Given the description of an element on the screen output the (x, y) to click on. 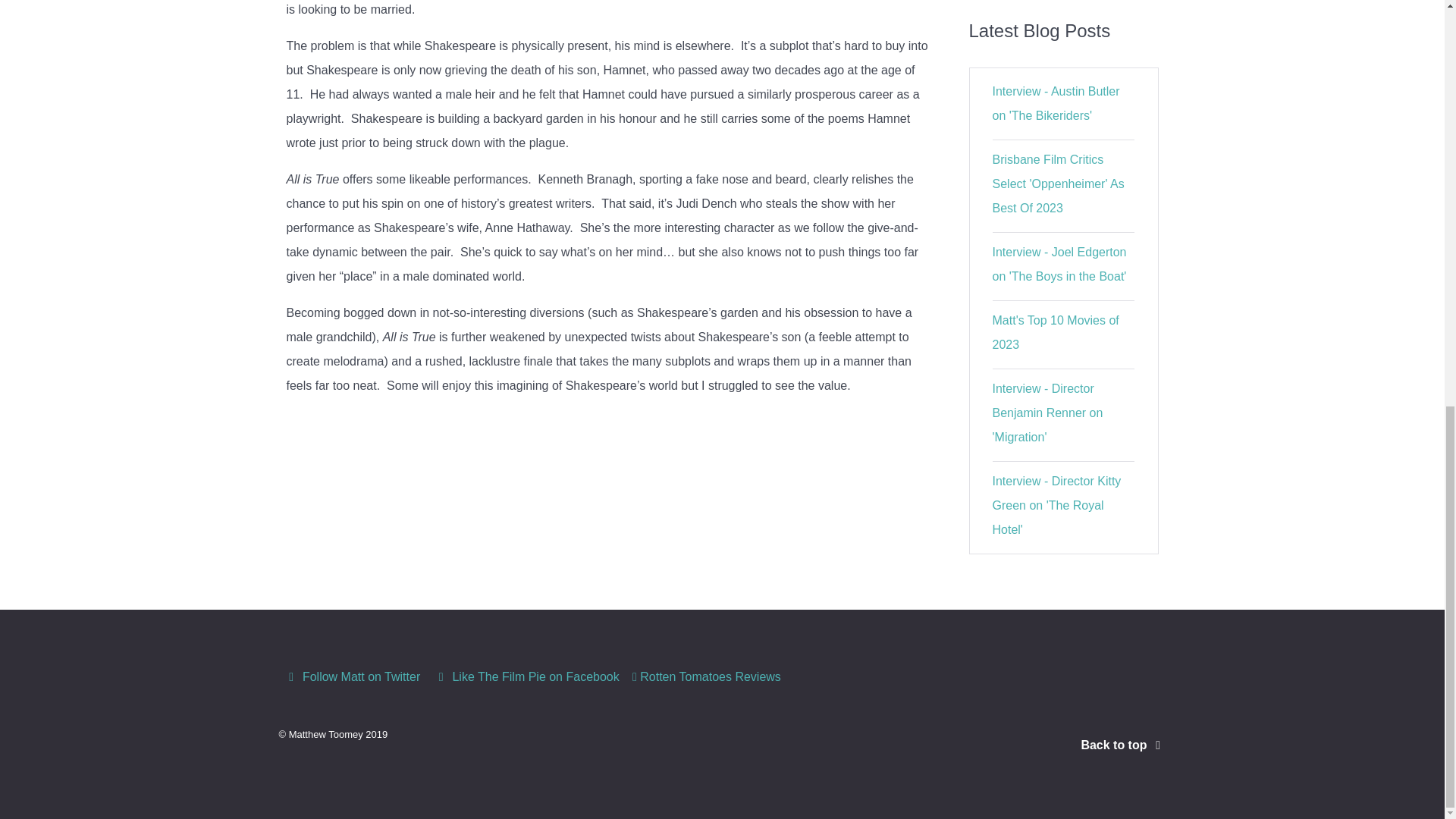
Follow Matt on Twitter (354, 676)
Rotten Tomatoes Reviews (706, 676)
Interview - Director Benjamin Renner on 'Migration' (1047, 412)
Brisbane Film Critics Select 'Oppenheimer' As Best Of 2023 (1058, 183)
Follow Matt on Twitter (354, 676)
Like The Film Pie on Facebook (527, 676)
Back to top (1123, 744)
Like The Film Pie on Facebook (527, 676)
Interview - Austin Butler on 'The Bikeriders' (1055, 103)
Matt's Top 10 Movies of 2023 (1055, 332)
